Given the description of an element on the screen output the (x, y) to click on. 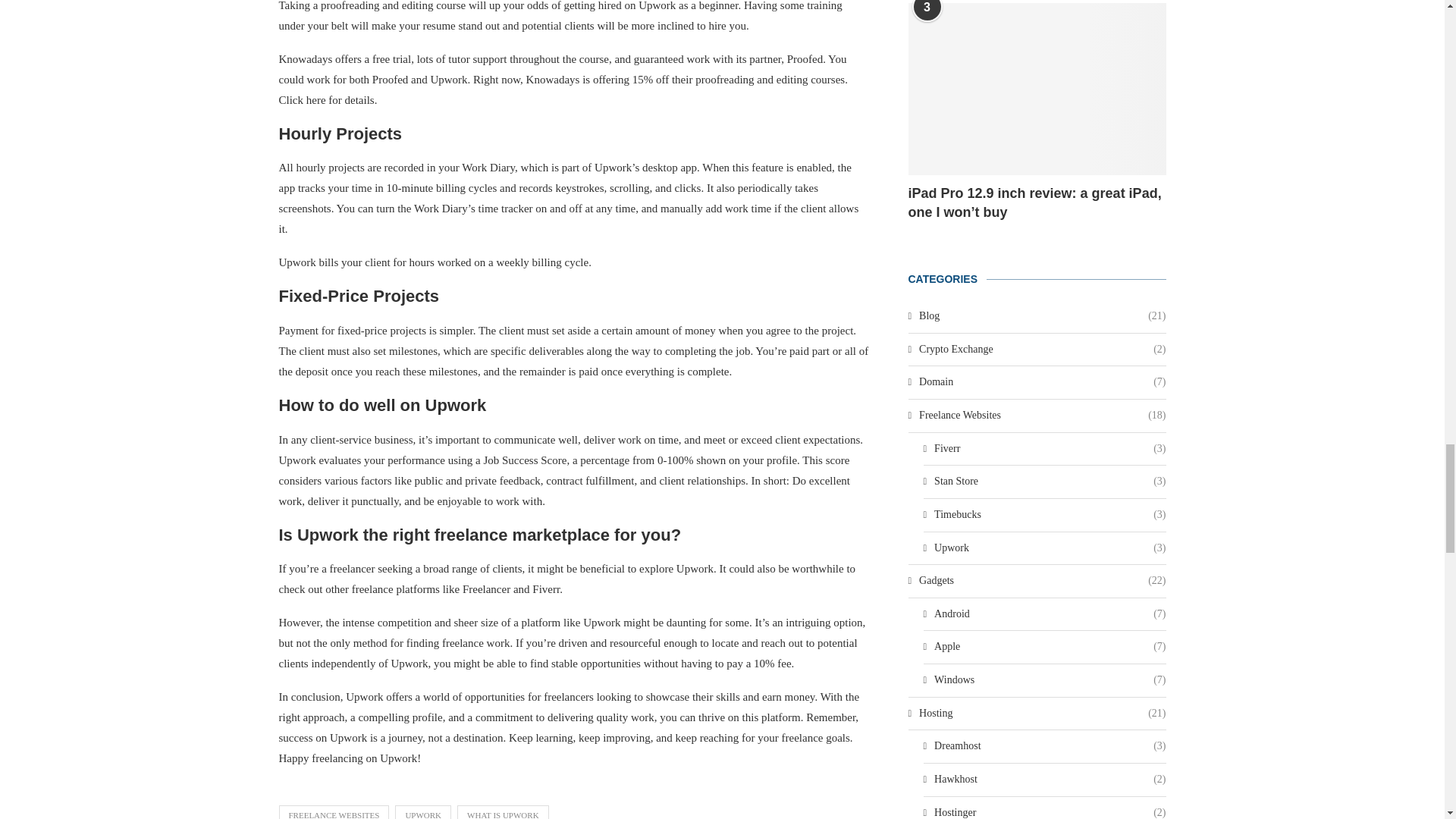
WHAT IS UPWORK (502, 812)
FREELANCE WEBSITES (334, 812)
UPWORK (422, 812)
